Given the description of an element on the screen output the (x, y) to click on. 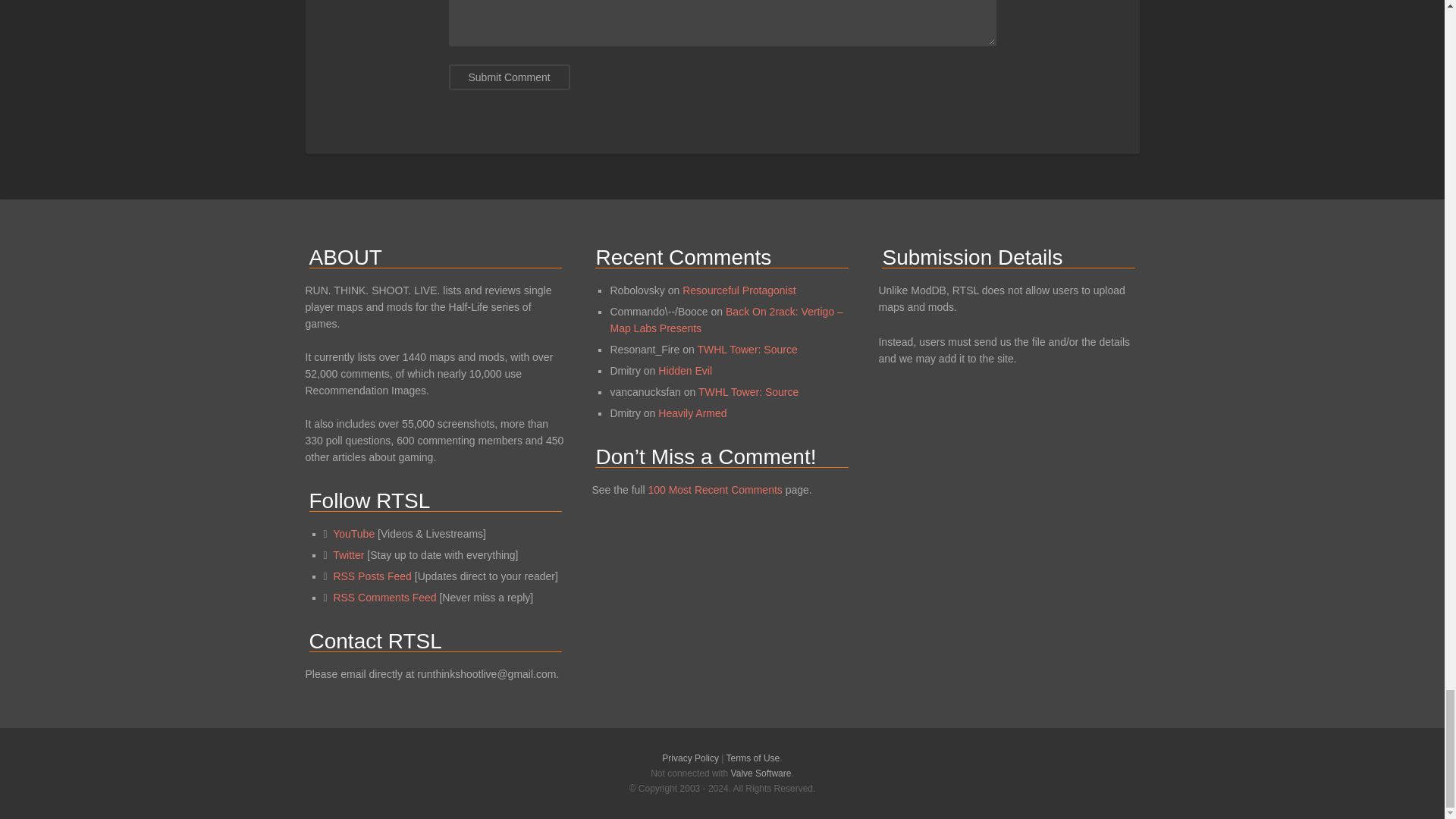
Submit Comment (509, 77)
View the Comments RSS Feed (384, 597)
Follow RTSL On Twitter (348, 554)
View the RTSL YouTube Channel (353, 533)
View the RSS Posts Feed (372, 576)
